Given the description of an element on the screen output the (x, y) to click on. 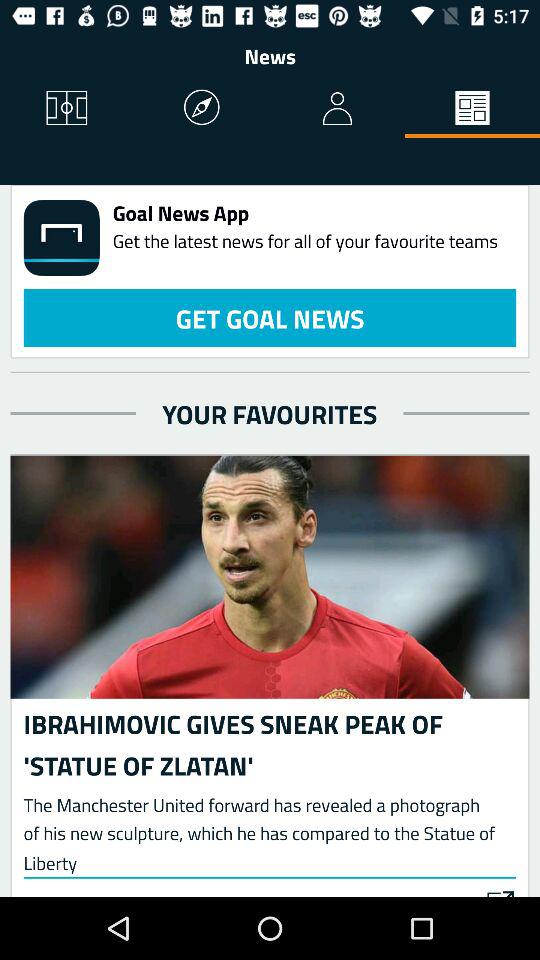
choose the icon below news (472, 108)
